Given the description of an element on the screen output the (x, y) to click on. 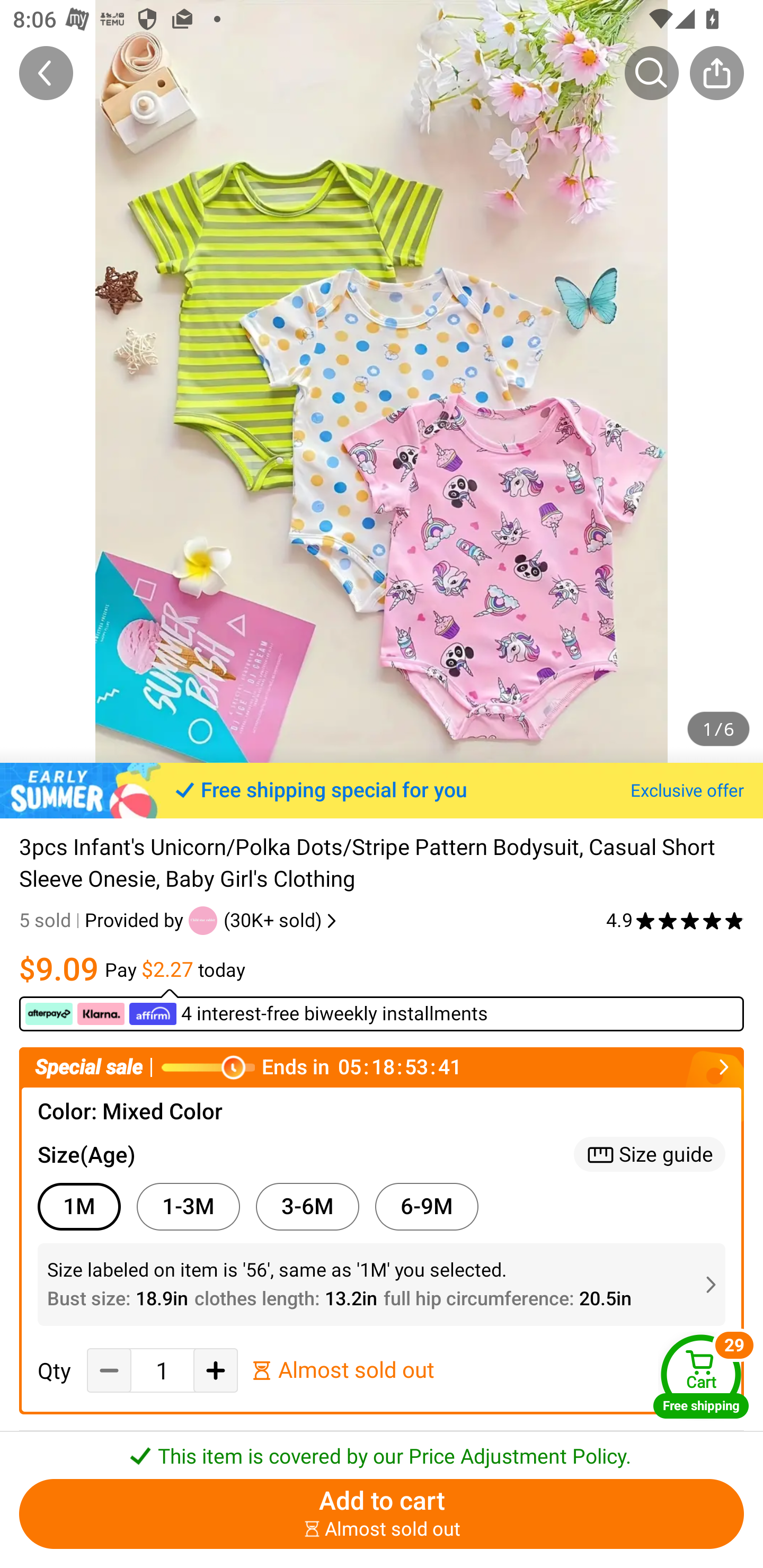
Back (46, 72)
Share (716, 72)
Free shipping special for you Exclusive offer (381, 790)
5 sold Provided by  (103, 920)
4.9 (674, 920)
￼ ￼ ￼ 4 interest-free biweekly installments (381, 1009)
Special sale Ends in￼￼ (381, 1067)
 Size guide (649, 1153)
1M (78, 1206)
1-3M (188, 1206)
3-6M (307, 1206)
6-9M (426, 1206)
Cart Free shipping Cart (701, 1375)
Decrease Quantity Button (108, 1370)
Add Quantity button (215, 1370)
1 (162, 1370)
Add to cart ￼￼Almost sold out (381, 1513)
